Given the description of an element on the screen output the (x, y) to click on. 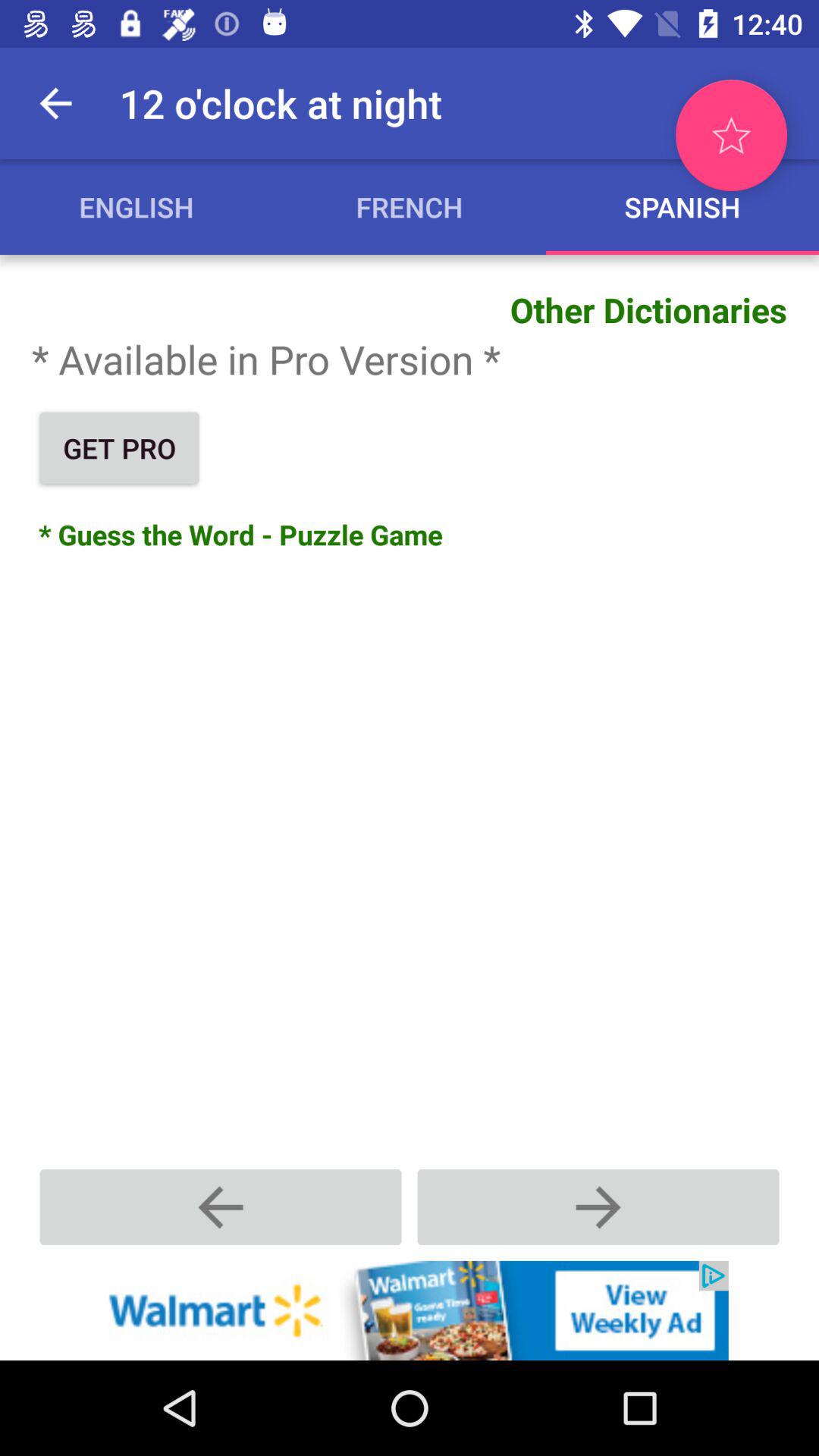
mark as favorite (731, 135)
